Given the description of an element on the screen output the (x, y) to click on. 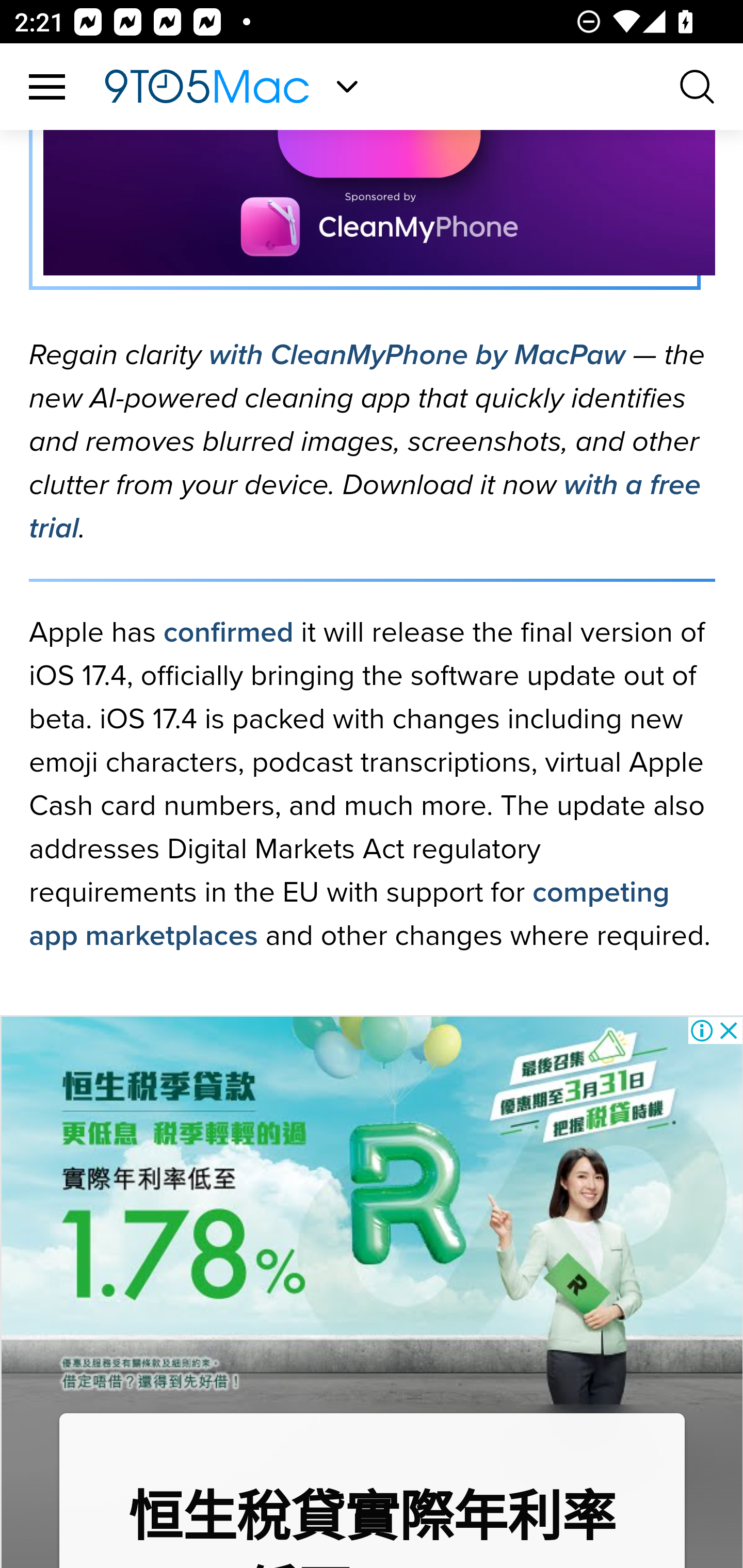
Toggle main menu (46, 87)
Toggle search form (697, 87)
Switch site (346, 86)
with CleanMyPhone by MacPaw (416, 356)
with a free trial (365, 507)
confirmed (228, 633)
competing app marketplaces (348, 914)
